Given the description of an element on the screen output the (x, y) to click on. 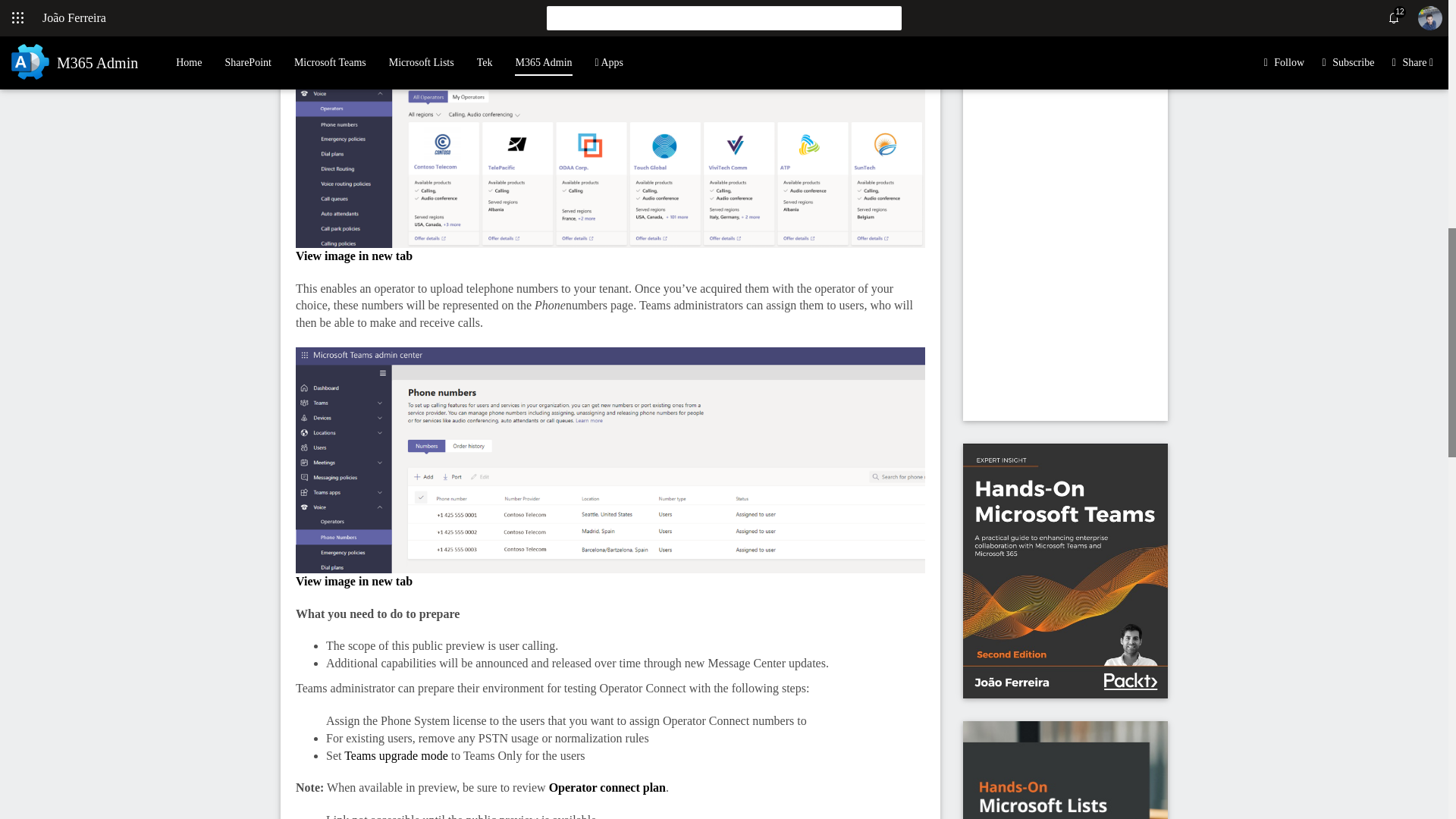
Teams upgrade mode (395, 755)
View image in new tab (353, 581)
Operator connect plan (606, 787)
View image in new tab (353, 255)
